Given the description of an element on the screen output the (x, y) to click on. 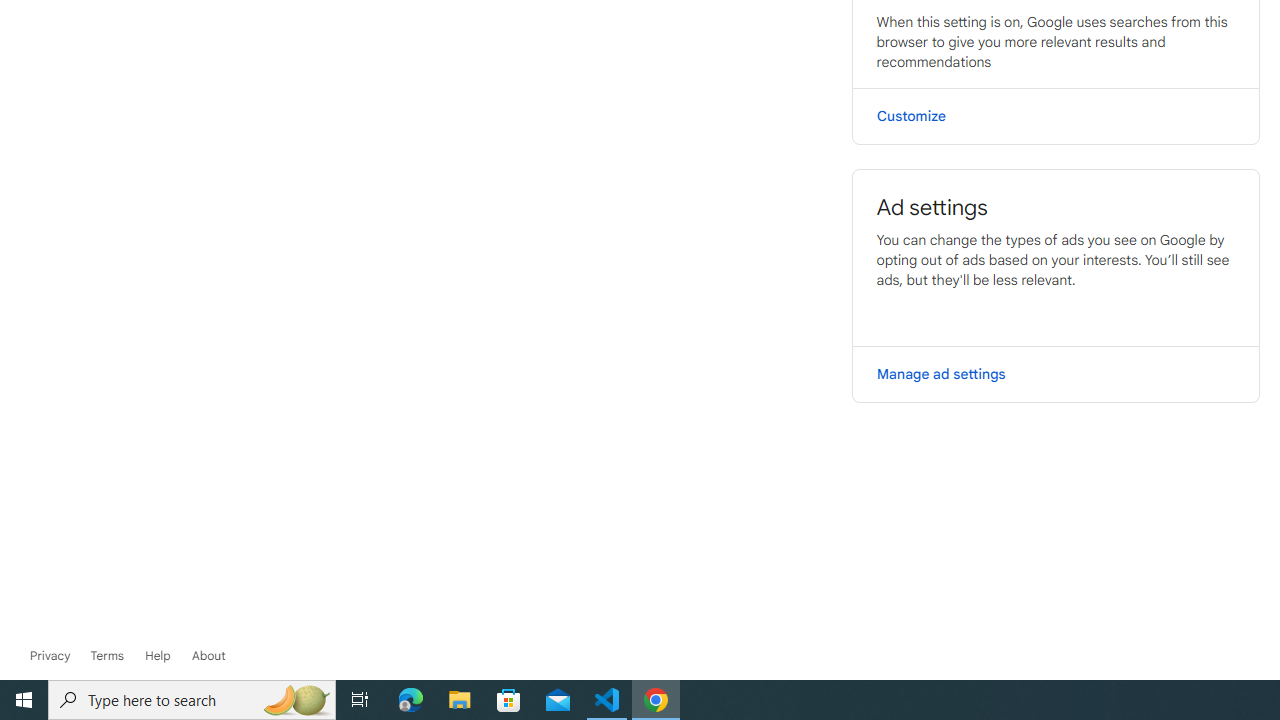
Manage ad settings (1055, 374)
Customize (1055, 116)
Learn more about Google Account (208, 655)
